Given the description of an element on the screen output the (x, y) to click on. 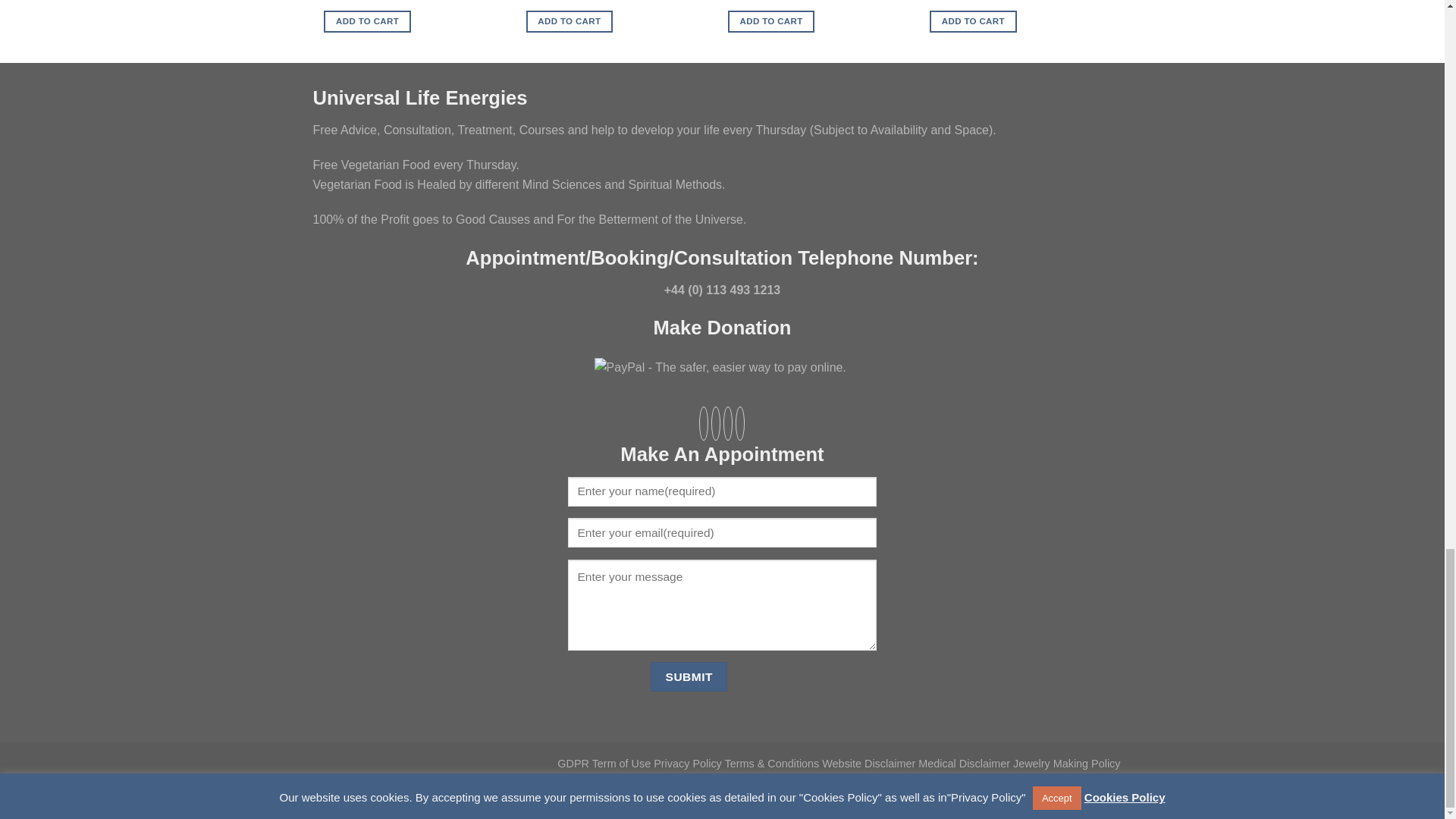
Submit (688, 676)
